Given the description of an element on the screen output the (x, y) to click on. 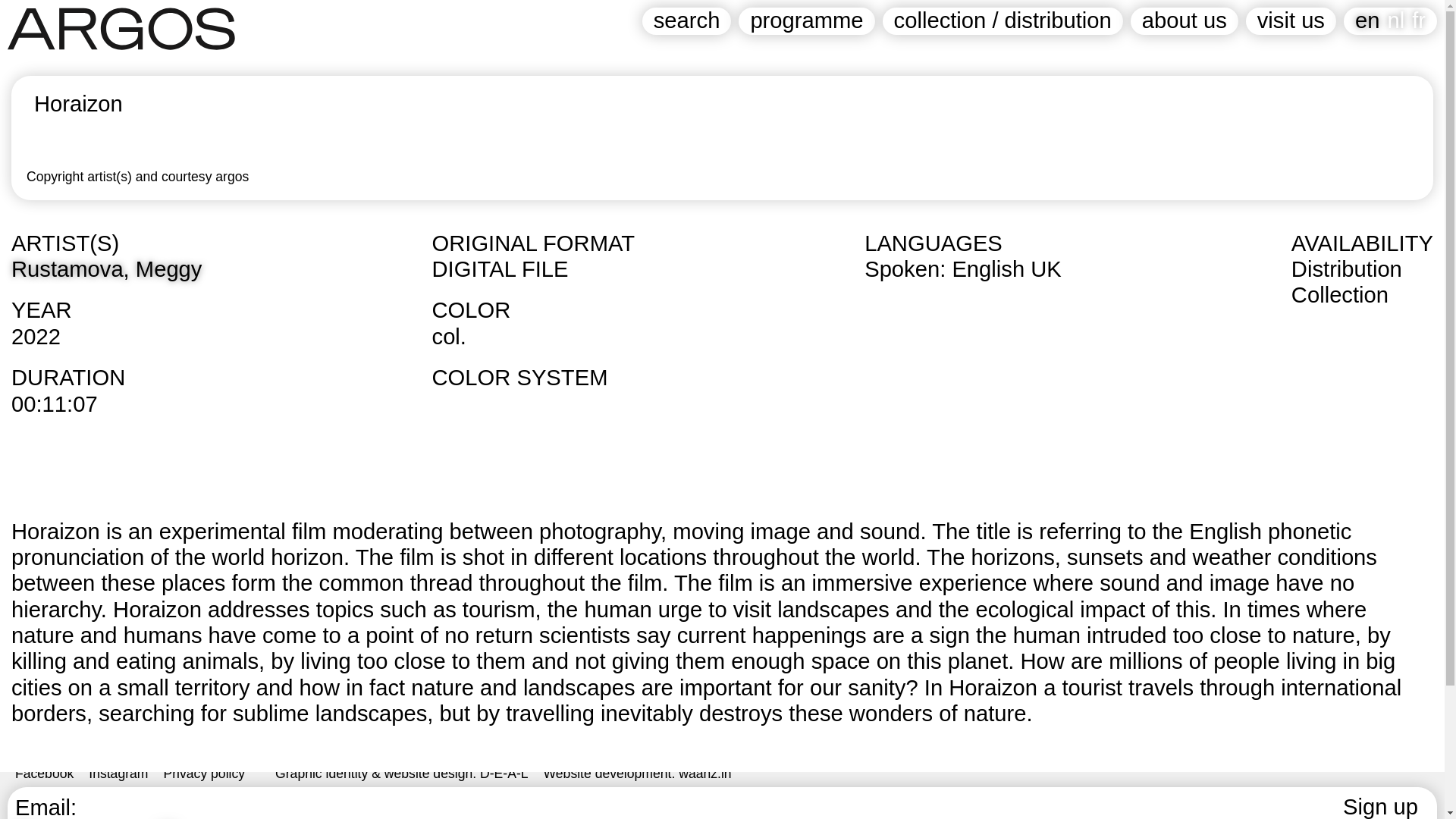
D-E-A-L (504, 773)
visit us (1291, 21)
Instagram (118, 773)
nl (1395, 20)
search (687, 21)
Rustamova, Meggy (106, 269)
Privacy policy (204, 773)
Sign up (1380, 806)
waanz.in (704, 773)
en (1367, 20)
